Given the description of an element on the screen output the (x, y) to click on. 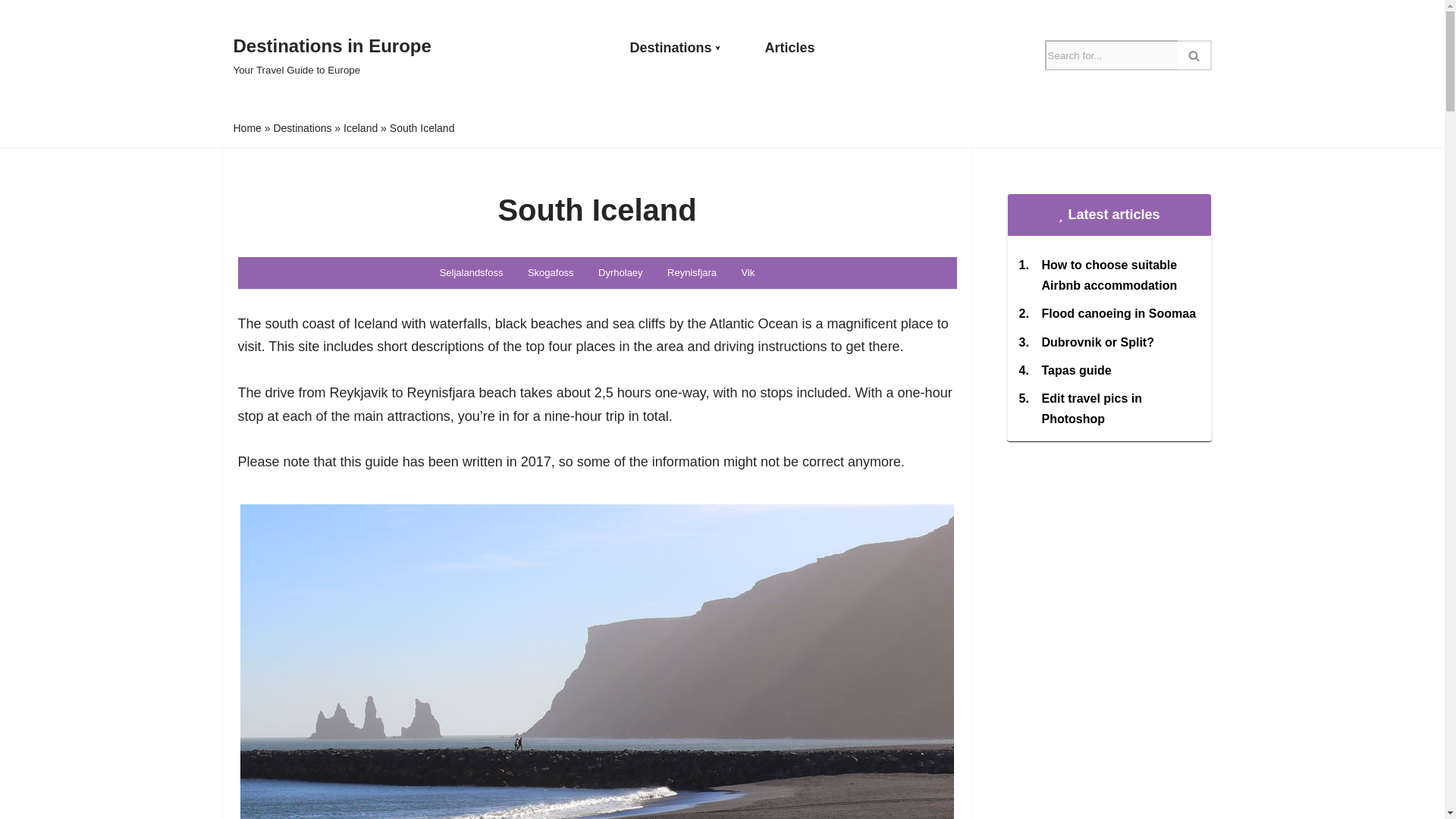
Skip to content (11, 31)
Destinations (331, 54)
